Given the description of an element on the screen output the (x, y) to click on. 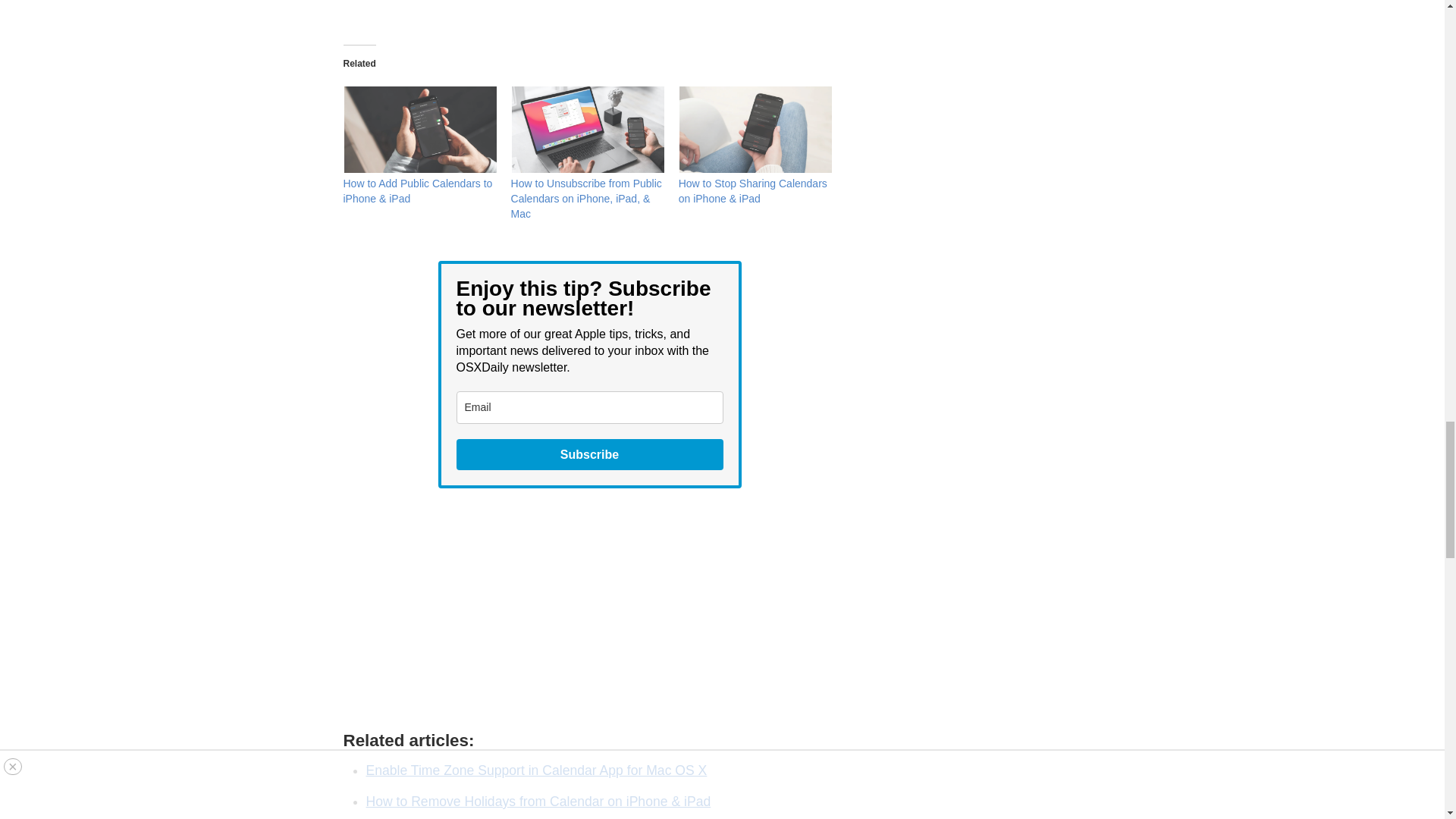
Subscribe (590, 454)
Enable Time Zone Support in Calendar App for Mac OS X (535, 770)
